Given the description of an element on the screen output the (x, y) to click on. 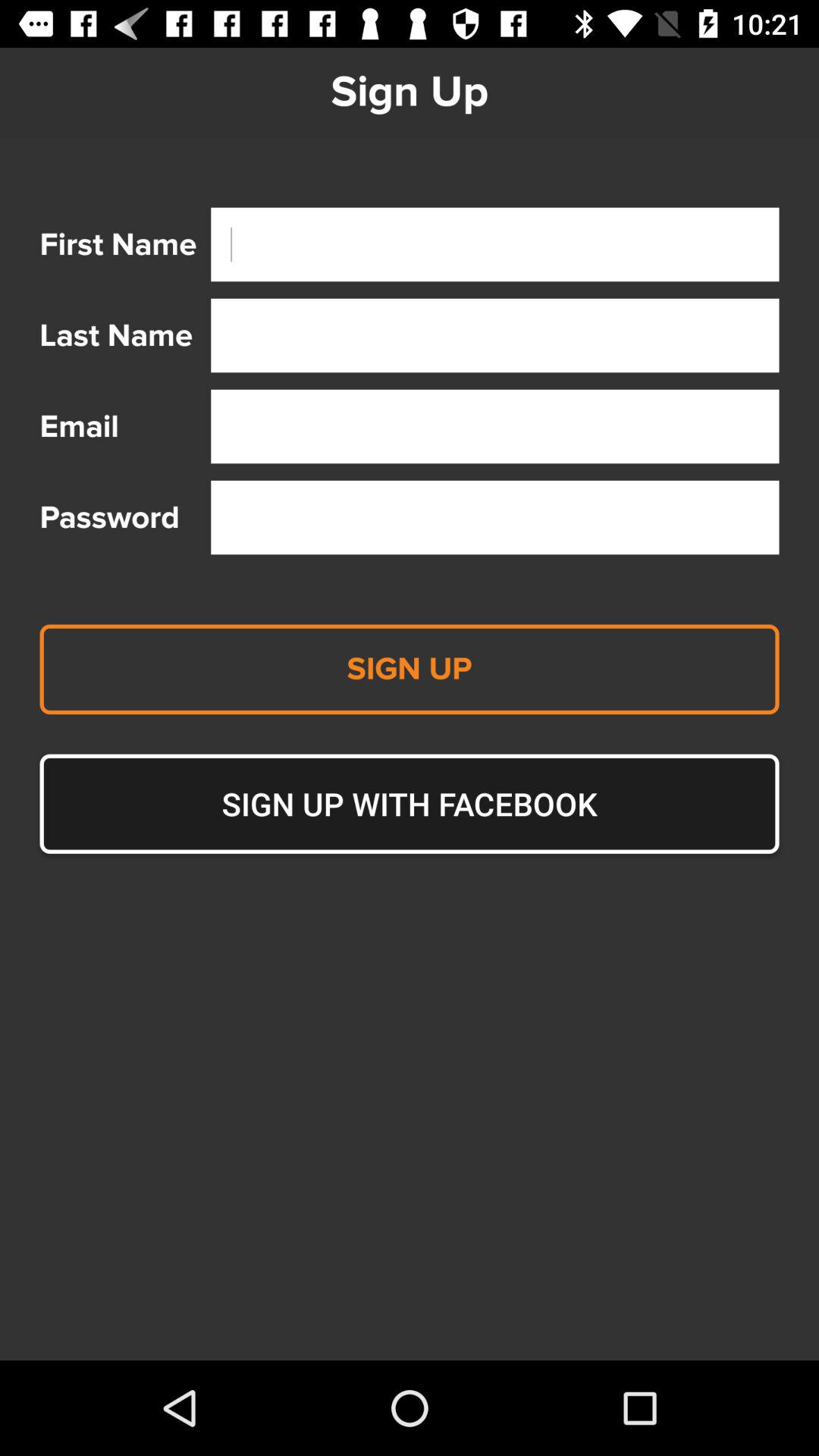
search bar (495, 335)
